Given the description of an element on the screen output the (x, y) to click on. 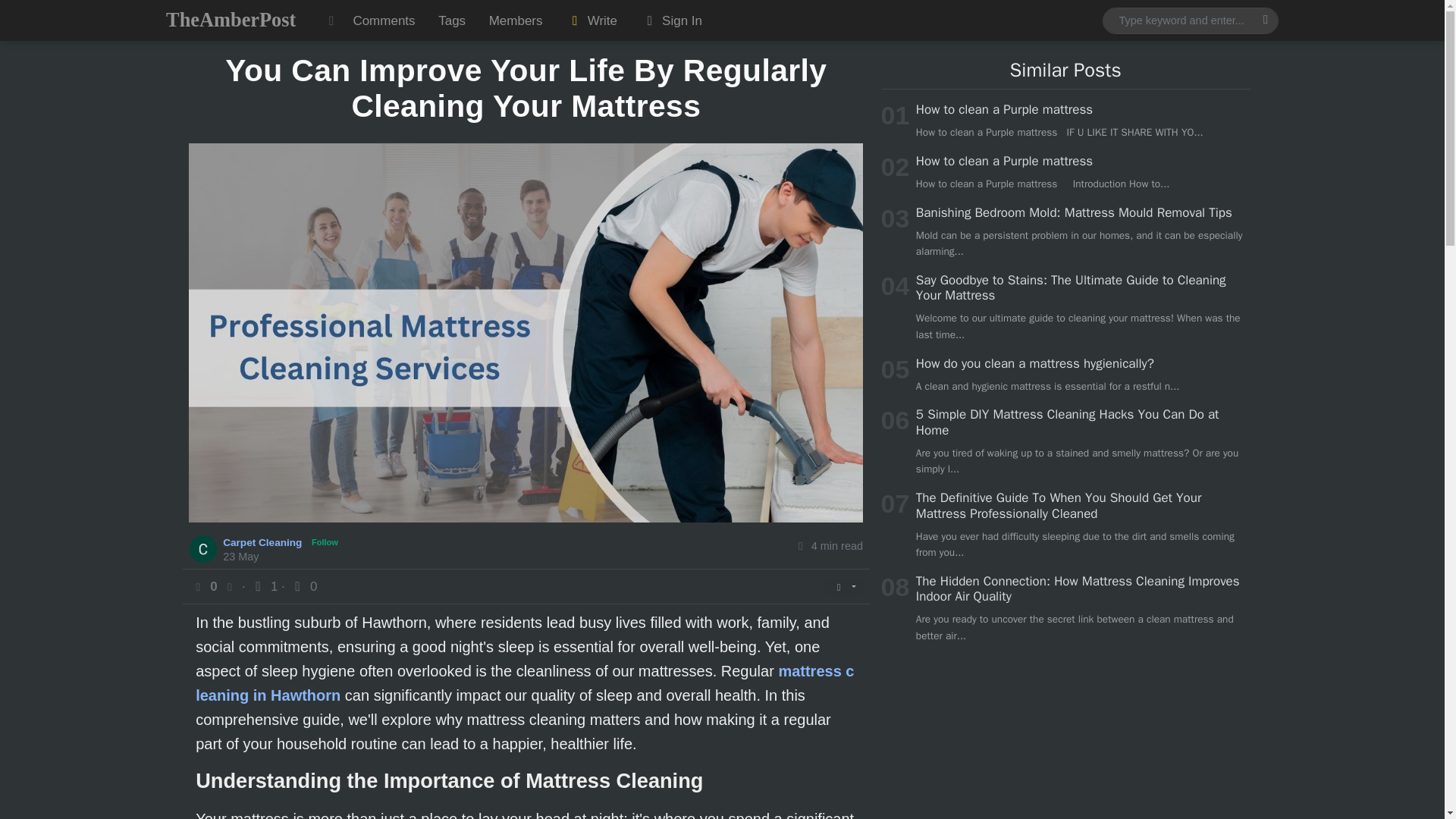
How do you clean a mattress hygienically? (1034, 363)
Sign In (670, 20)
Carpet Cleaning (263, 541)
TheAmberPost (230, 20)
Comments (383, 20)
Follow (324, 542)
Members (515, 20)
0 (302, 586)
Tags (451, 20)
Toggle dark mode (330, 20)
Banishing Bedroom Mold: Mattress Mould Removal Tips (1073, 212)
Views (264, 586)
mattress cleaning in Hawthorn (524, 682)
How to clean a Purple mattress (1004, 160)
